Given the description of an element on the screen output the (x, y) to click on. 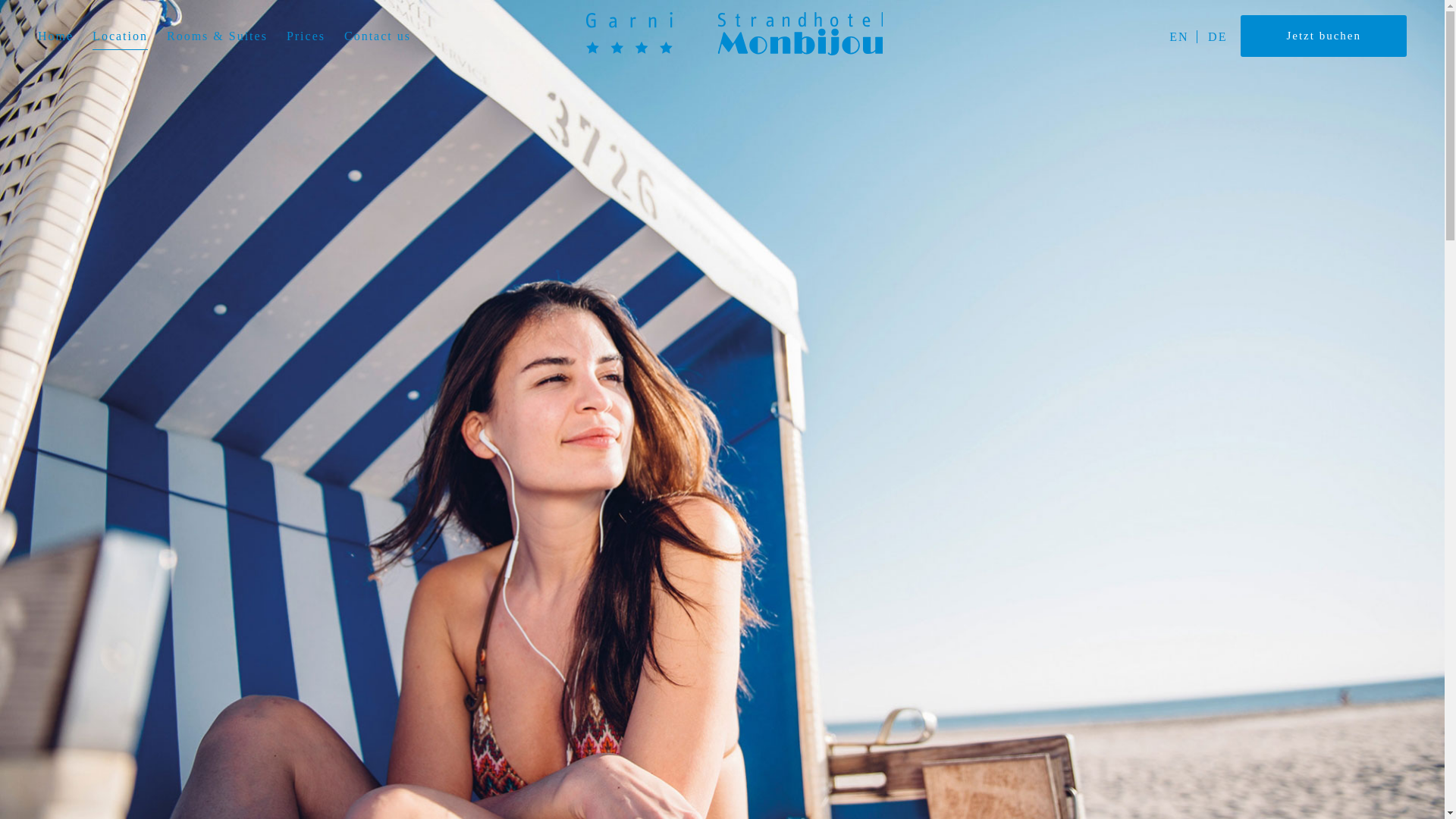
Contact us (376, 35)
Prices (267, 85)
Home (733, 51)
Contact us (338, 85)
Location (82, 85)
Home (17, 85)
Location (120, 35)
Jetzt buchen (1323, 35)
EN (1178, 36)
Prices (305, 35)
